Given the description of an element on the screen output the (x, y) to click on. 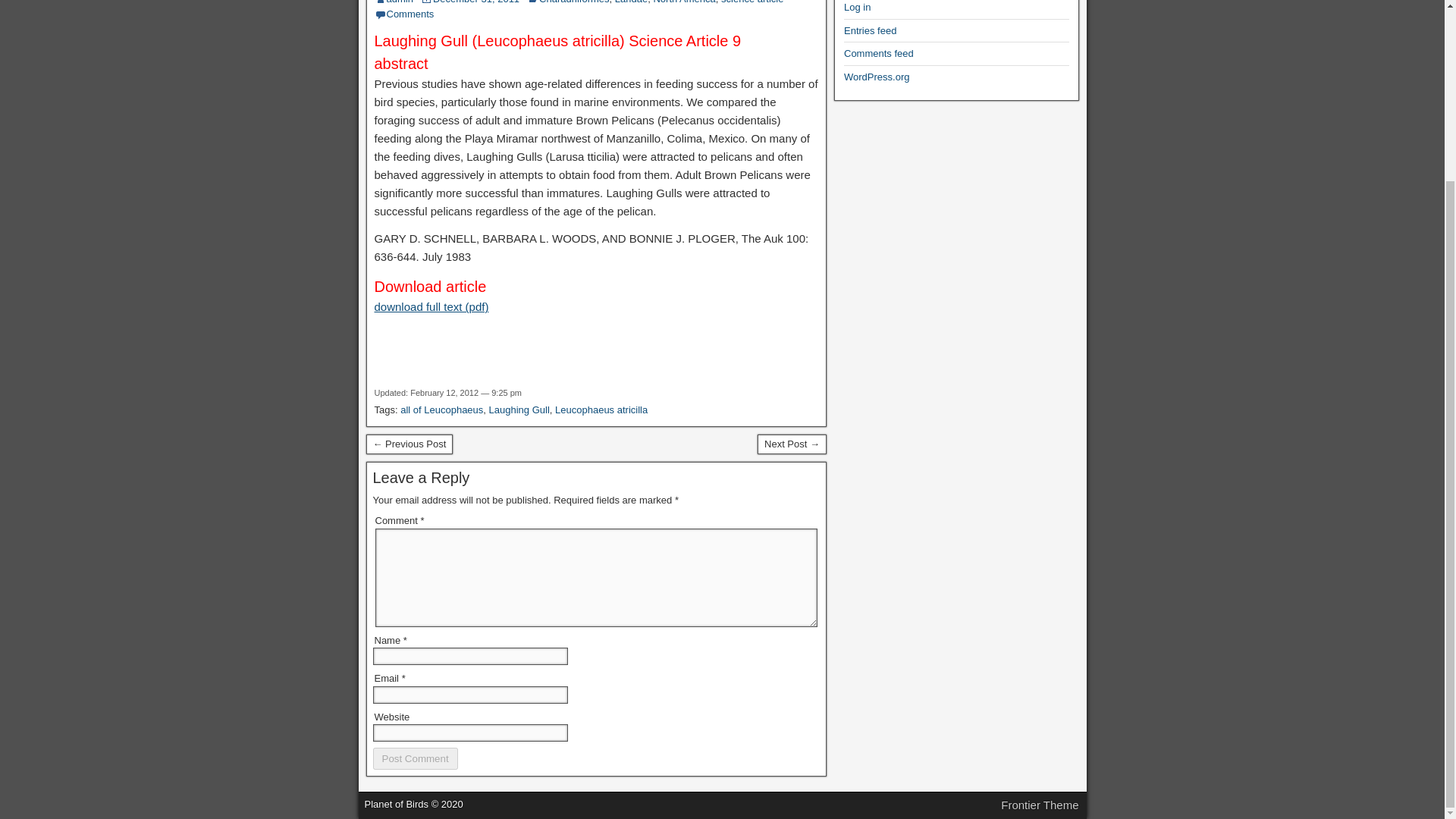
North America (683, 2)
Comments (410, 13)
December 31, 2011 (475, 2)
Leucophaeus atricilla (600, 409)
Comments feed (879, 52)
all of Leucophaeus (441, 409)
Frontier Theme (1039, 804)
WordPress.org (876, 76)
The spring moult of larus atricilla linn. (408, 444)
Log in (857, 7)
Charadriiformes (573, 2)
Post Comment (415, 758)
admin (400, 2)
Laughing Gull (519, 409)
